Given the description of an element on the screen output the (x, y) to click on. 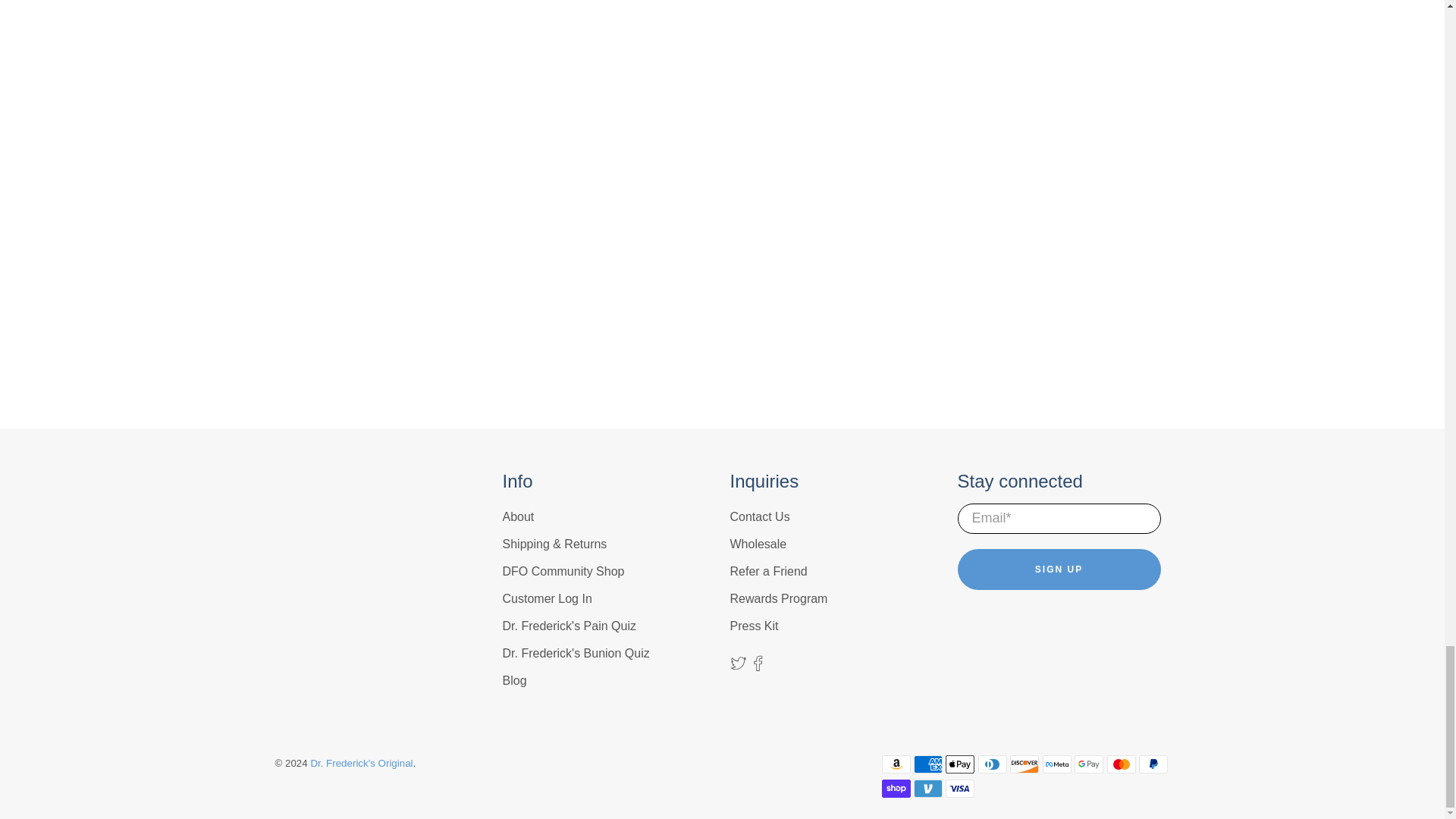
Dr. Frederick's Original on Twitter (737, 666)
Amazon (895, 764)
Discover (1024, 764)
Diners Club (992, 764)
American Express (928, 764)
Dr. Frederick's Original (338, 519)
Meta Pay (1056, 764)
Dr. Frederick's Original on Facebook (758, 666)
Apple Pay (959, 764)
